Given the description of an element on the screen output the (x, y) to click on. 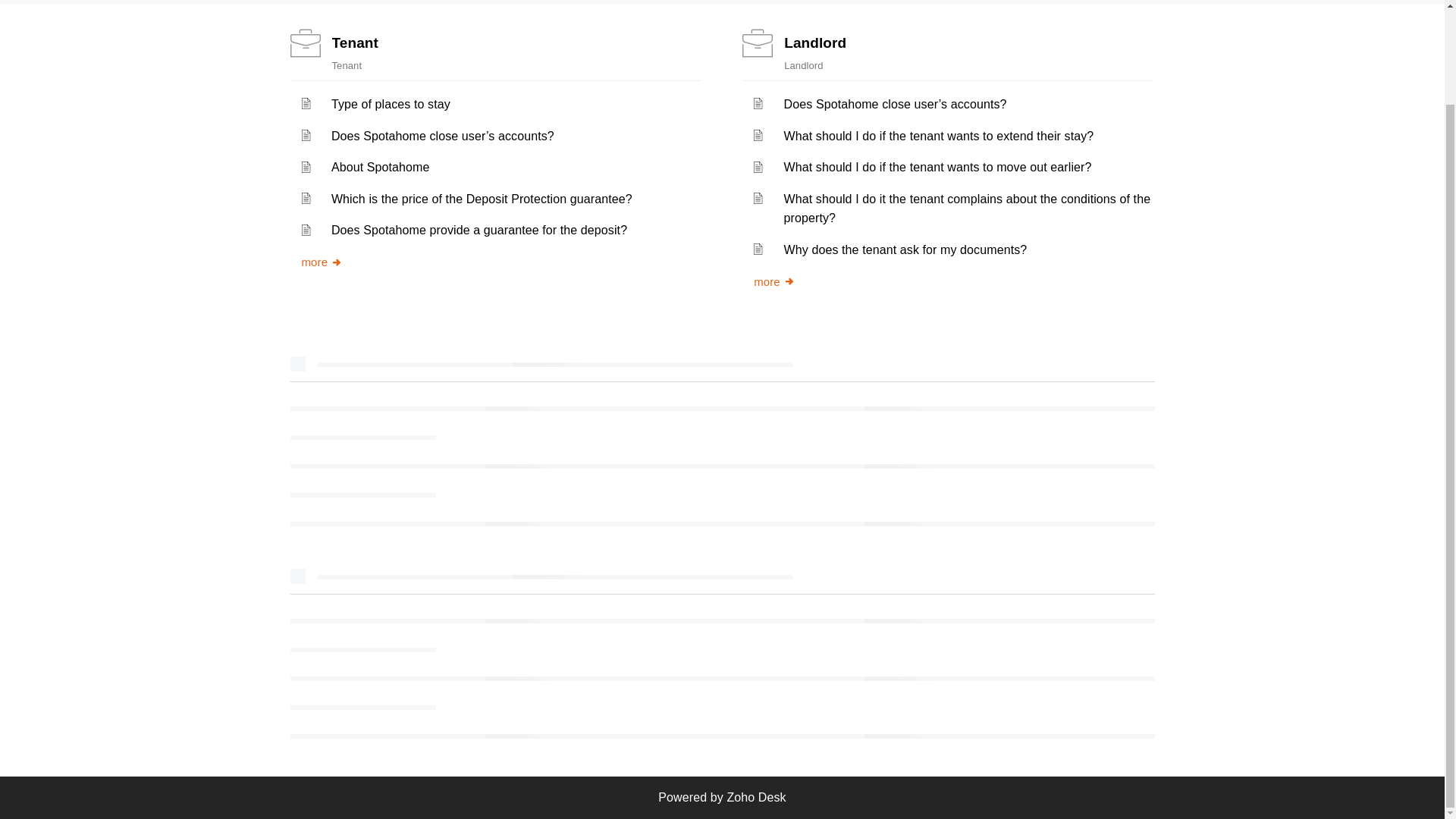
What should I do if the tenant wants to move out earlier? (938, 166)
Which is the price of the Deposit Protection guarantee? (481, 198)
What should I do if the tenant wants to extend their stay? (939, 135)
Type of places to stay (390, 103)
Type of places to stay (390, 103)
What should I do if the tenant  wants to extend their stay? (939, 135)
Tenant (354, 42)
Why does the tenant ask for my documents? (905, 249)
Does Spotahome provide a guarantee for the deposit? (479, 229)
